Given the description of an element on the screen output the (x, y) to click on. 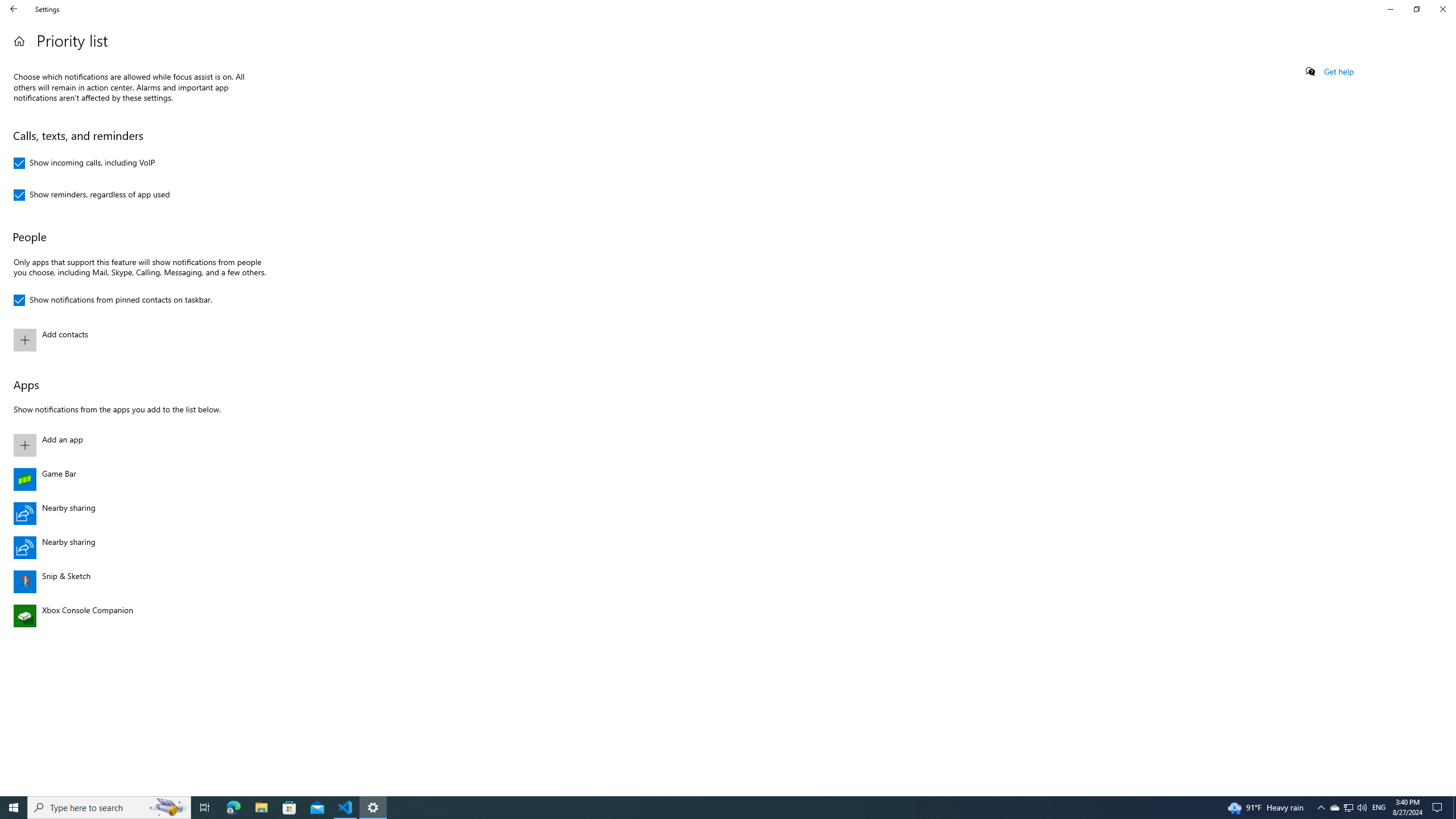
Close Settings (1333, 807)
Task View (1442, 9)
Tray Input Indicator - English (United States) (204, 807)
Back (1378, 807)
File Explorer (13, 9)
Show reminders, regardless of app used (261, 807)
Add contacts (91, 194)
Notification Chevron (137, 339)
Microsoft Edge (1320, 807)
User Promoted Notification Area (233, 807)
Microsoft Store (1347, 807)
Visual Studio Code - 1 running window (289, 807)
Snip & Sketch (345, 807)
